Given the description of an element on the screen output the (x, y) to click on. 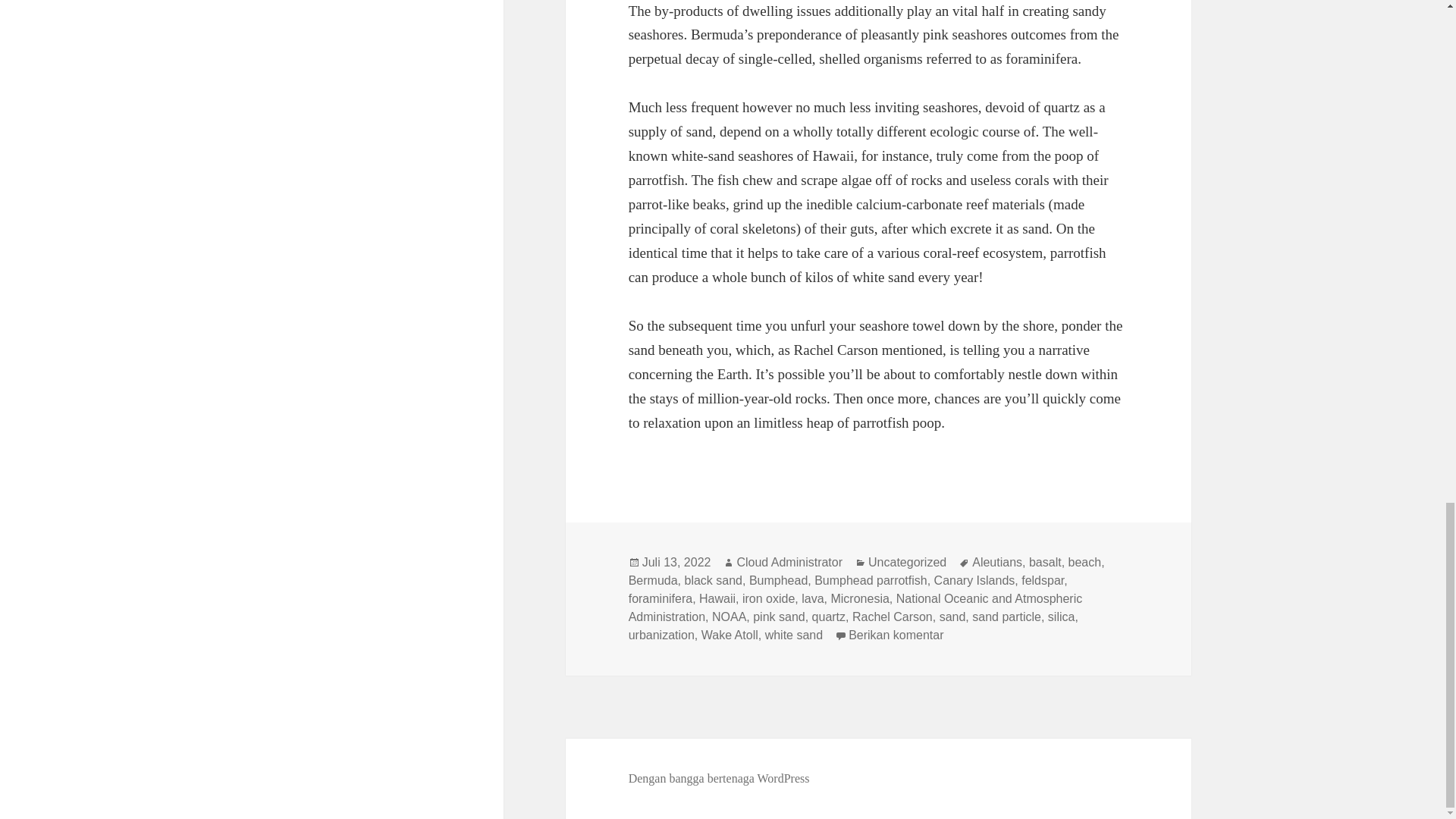
Juli 13, 2022 (676, 562)
Uncategorized (906, 562)
Cloud Administrator (789, 562)
